Given the description of an element on the screen output the (x, y) to click on. 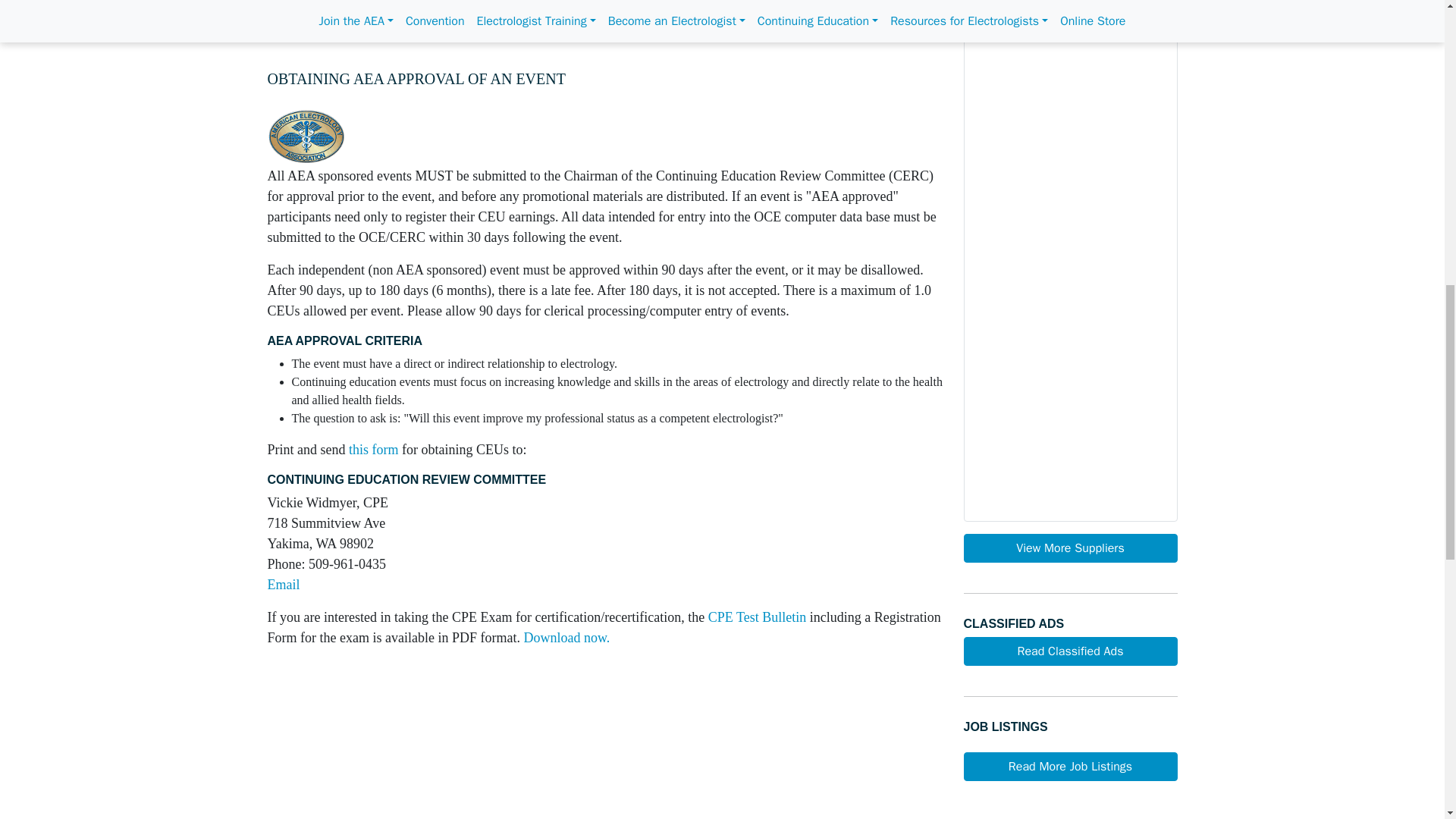
Electrologist Job Listings (1069, 766)
Classified Ads (1069, 651)
Supplier Ads (1069, 547)
